Given the description of an element on the screen output the (x, y) to click on. 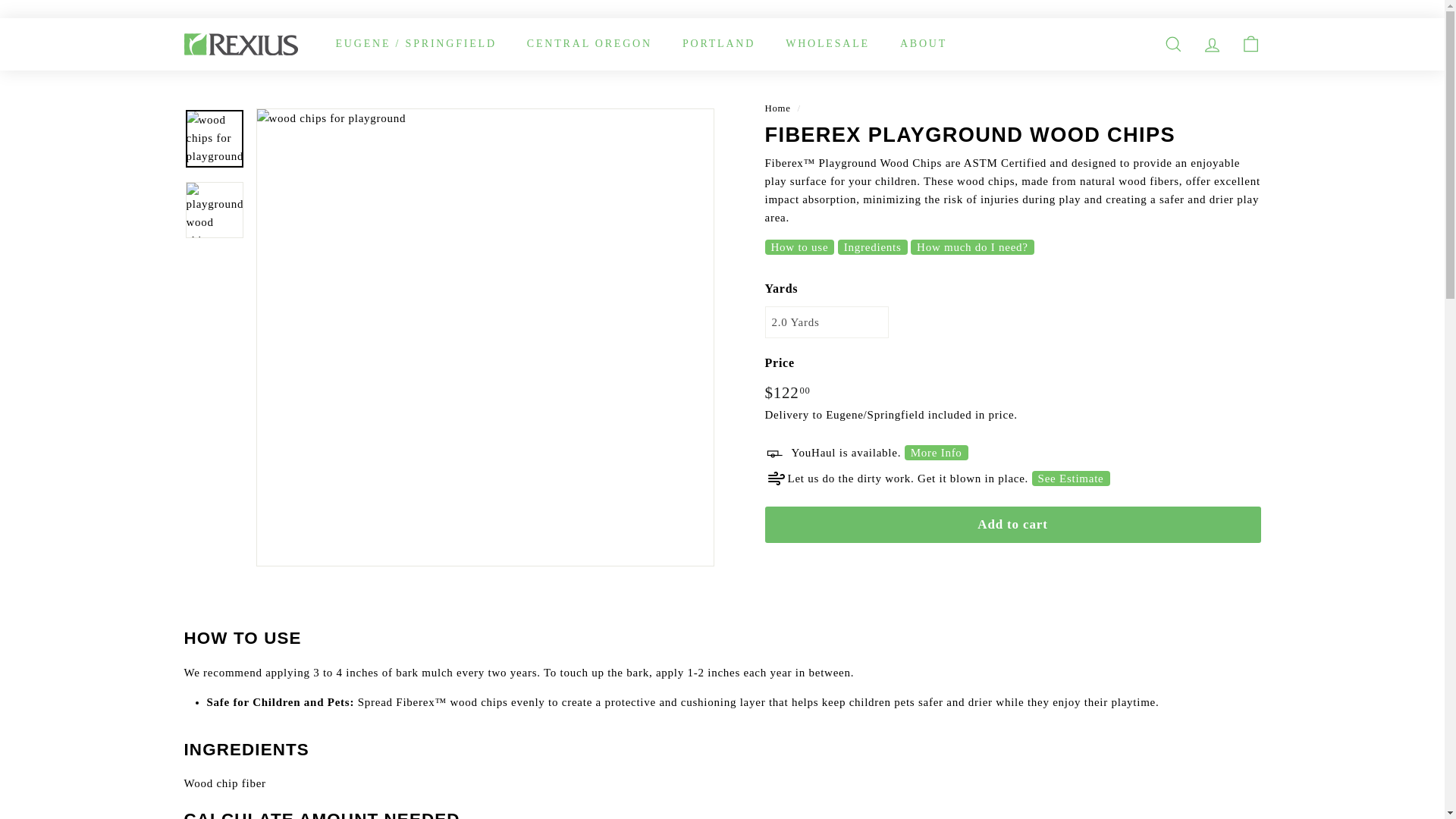
PORTLAND (718, 43)
CENTRAL OREGON (589, 43)
Back to the frontpage (777, 108)
WHOLESALE (827, 43)
